Given the description of an element on the screen output the (x, y) to click on. 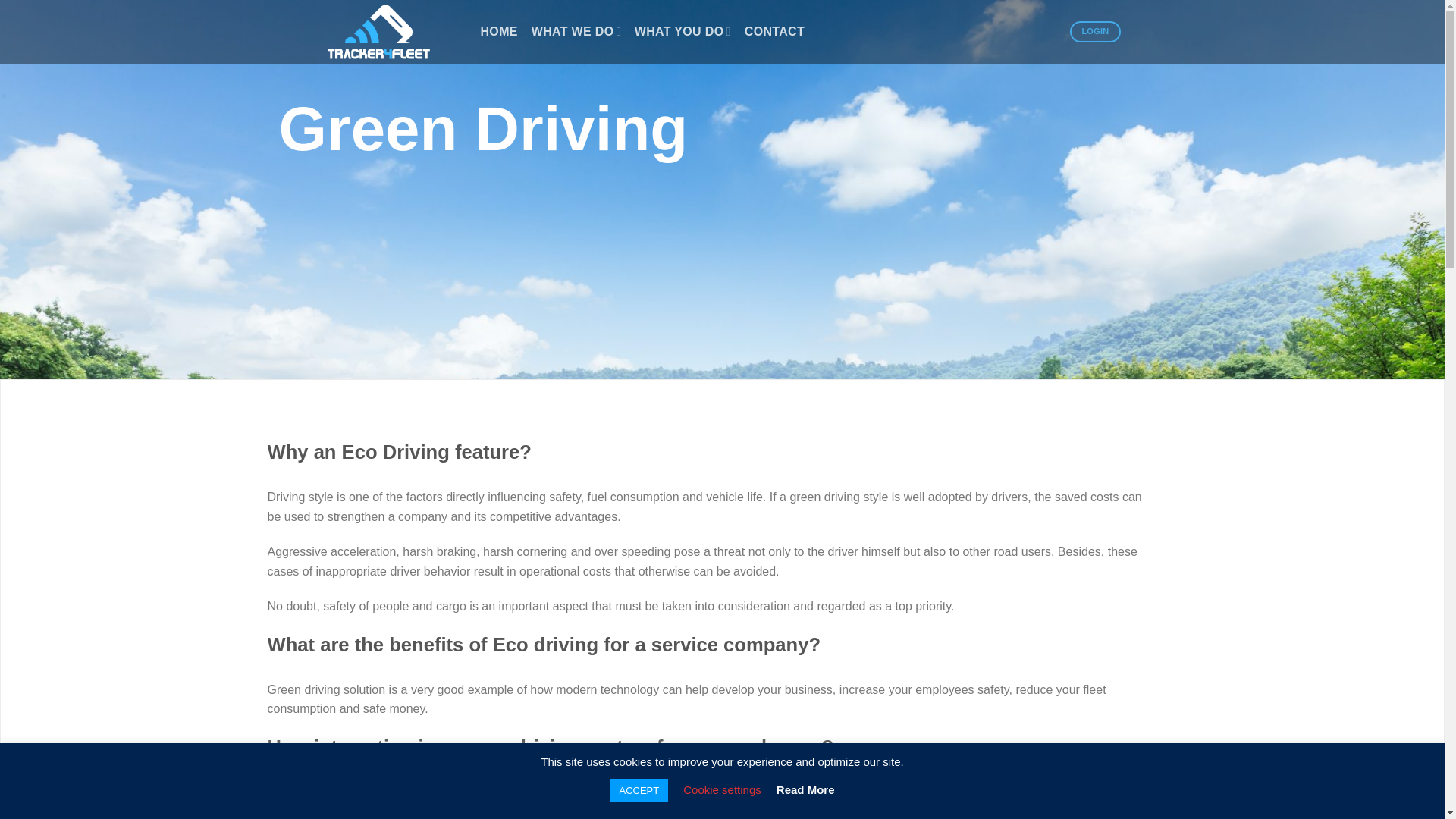
HOME (499, 31)
CONTACT (774, 31)
WHAT YOU DO (682, 30)
LOGIN (1094, 31)
Tracker4fleet (391, 31)
WHAT WE DO (576, 30)
